Given the description of an element on the screen output the (x, y) to click on. 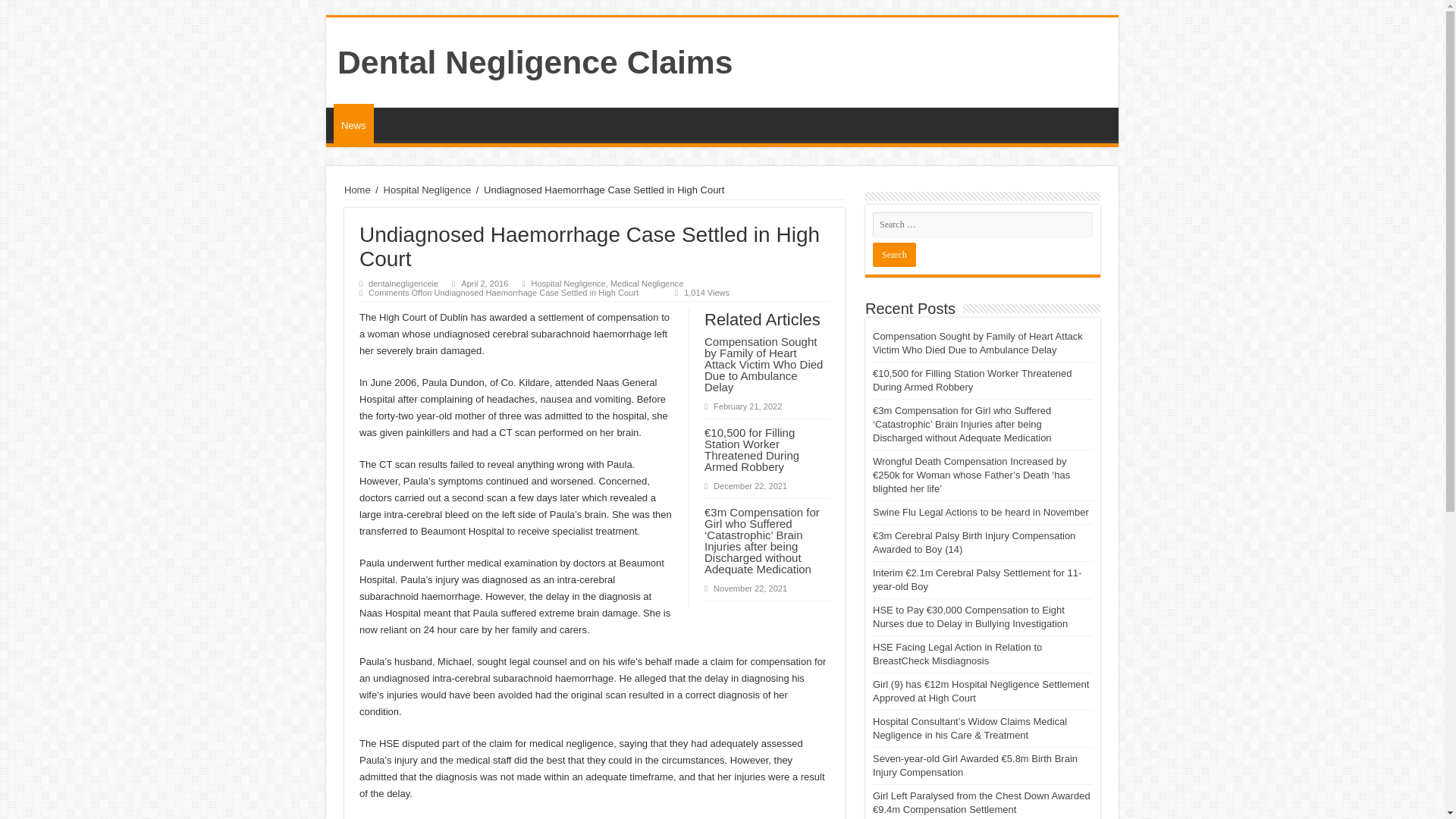
Swine Flu Legal Actions to be heard in November (980, 511)
Dental Negligence Claims (535, 62)
Search (893, 254)
News (353, 123)
Hospital Negligence (427, 189)
Medical Negligence (646, 283)
Home (357, 189)
Search (893, 254)
